Given the description of an element on the screen output the (x, y) to click on. 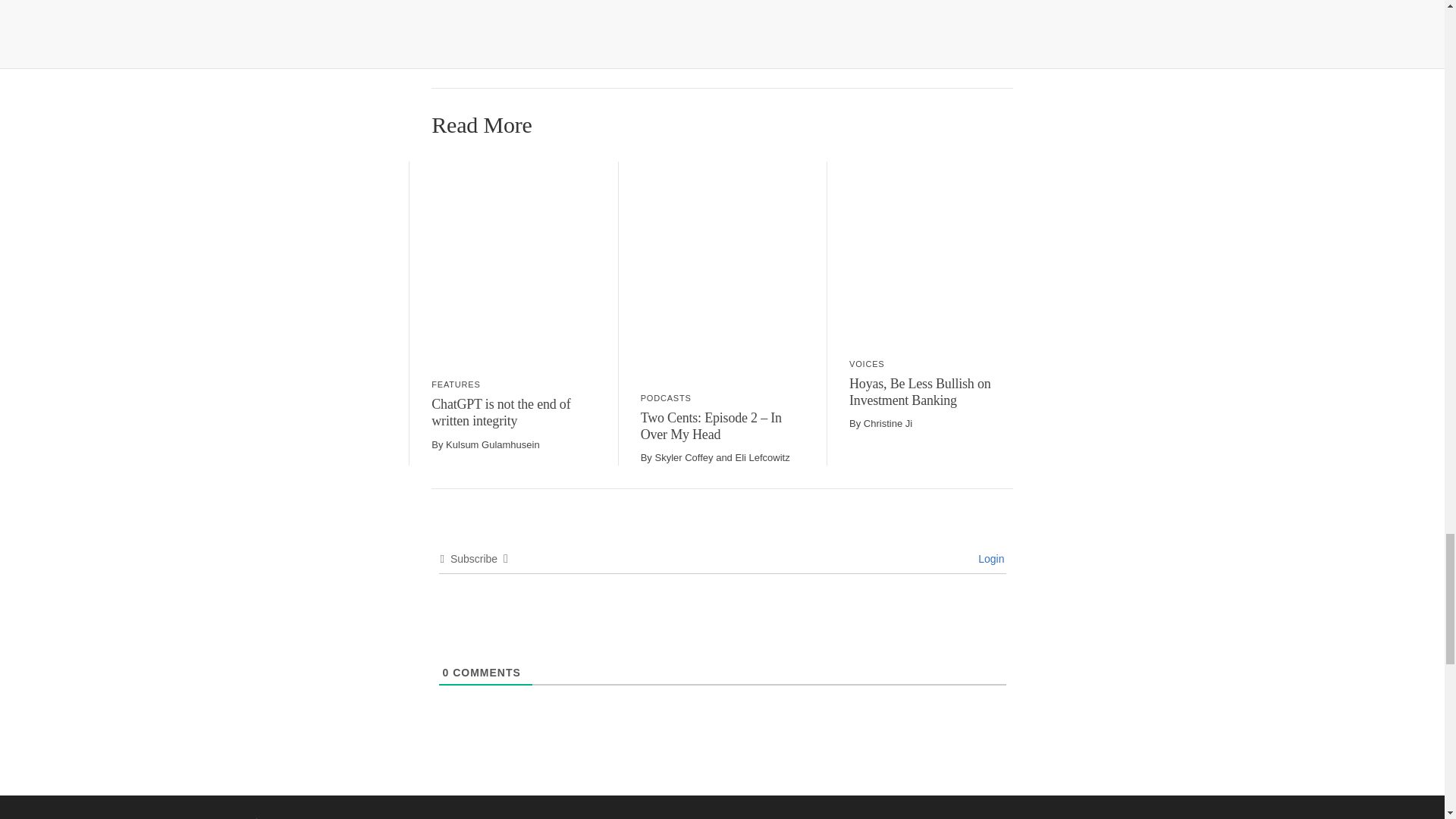
Posts by Eli Lefcowitz (762, 457)
Posts by Christine Ji (887, 423)
Posts by Skyler Coffey (683, 457)
Posts by Kulsum Gulamhusein (492, 444)
